Given the description of an element on the screen output the (x, y) to click on. 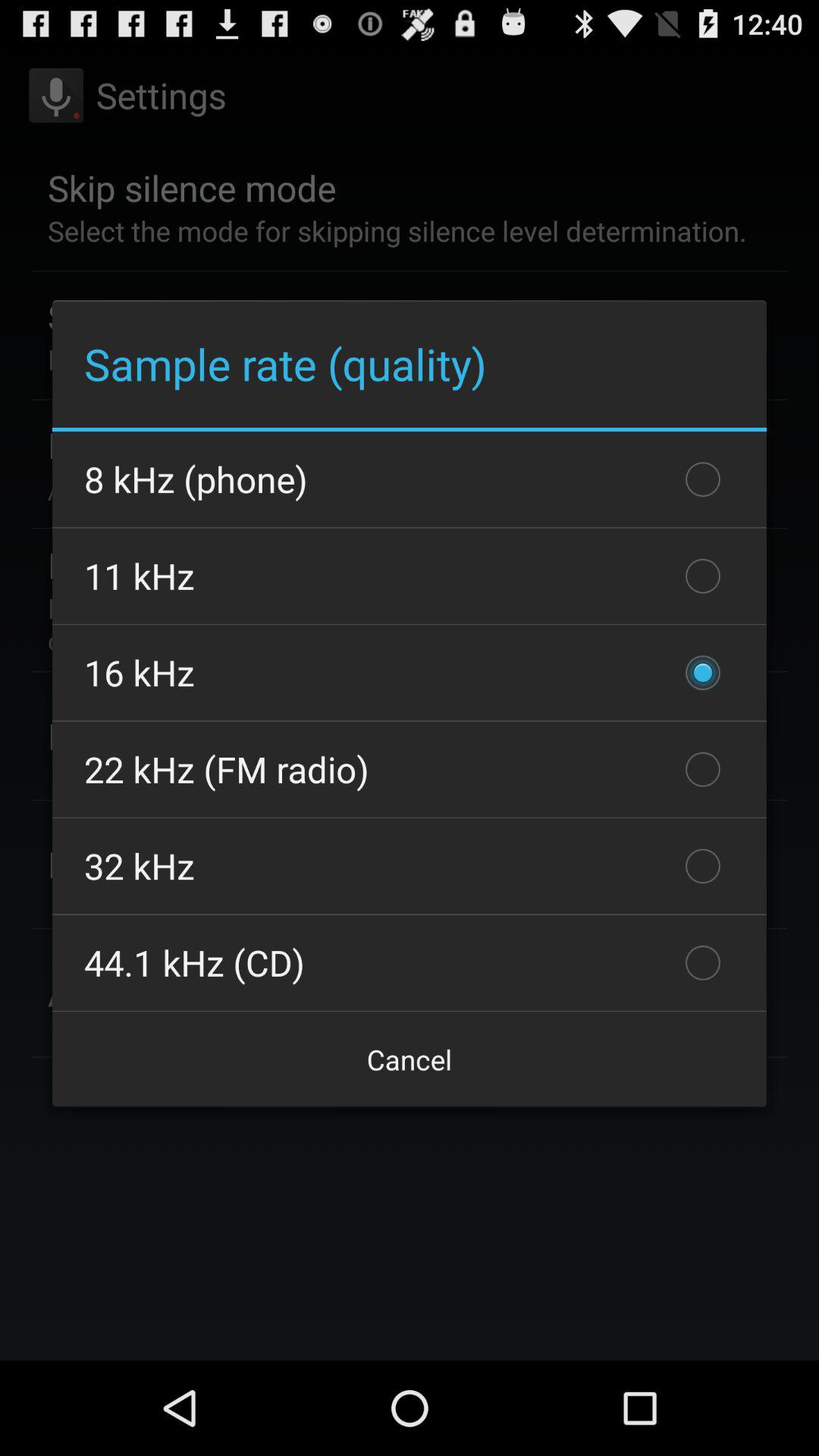
flip until cancel (409, 1059)
